Given the description of an element on the screen output the (x, y) to click on. 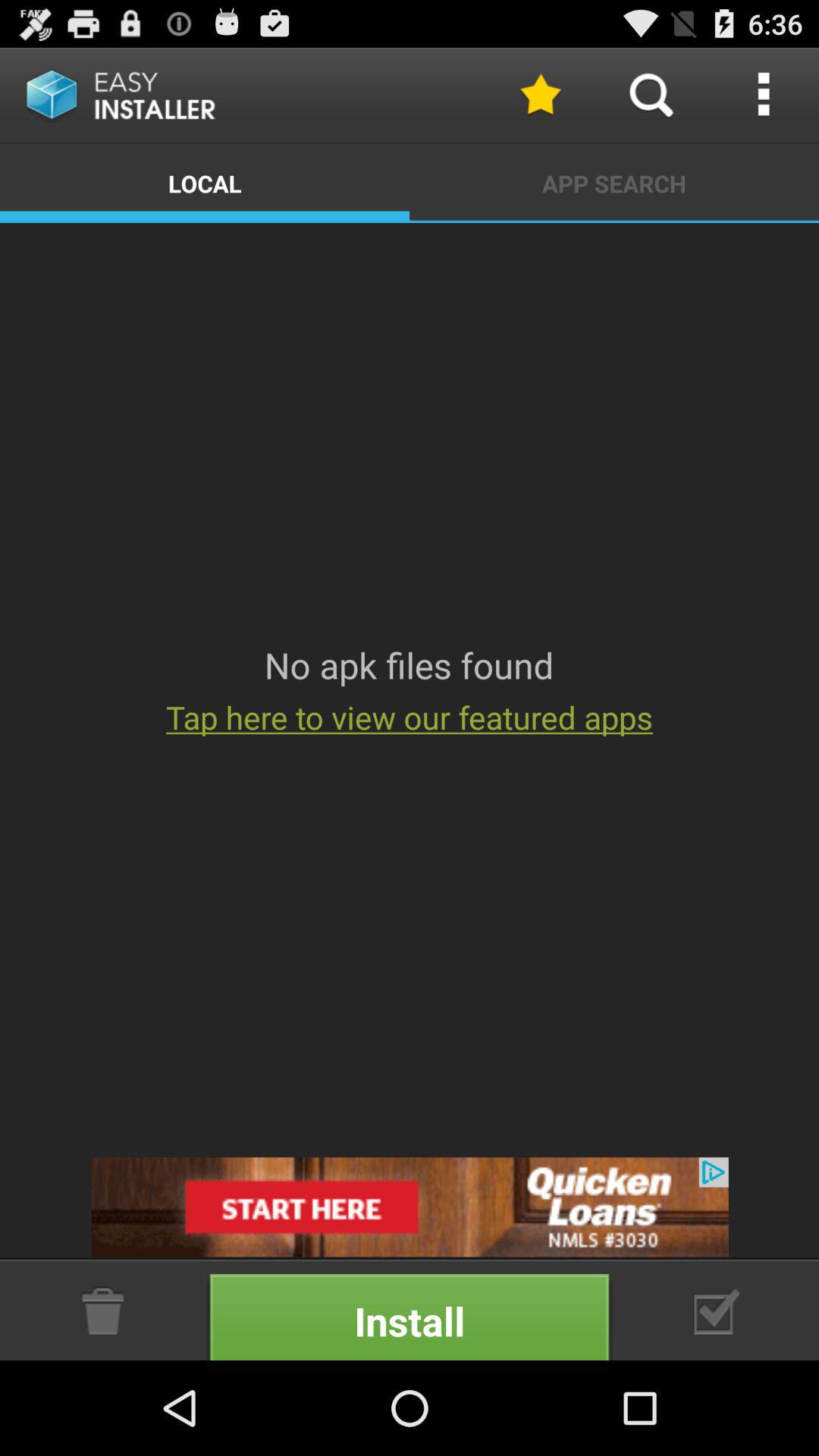
done the option (716, 1310)
